Given the description of an element on the screen output the (x, y) to click on. 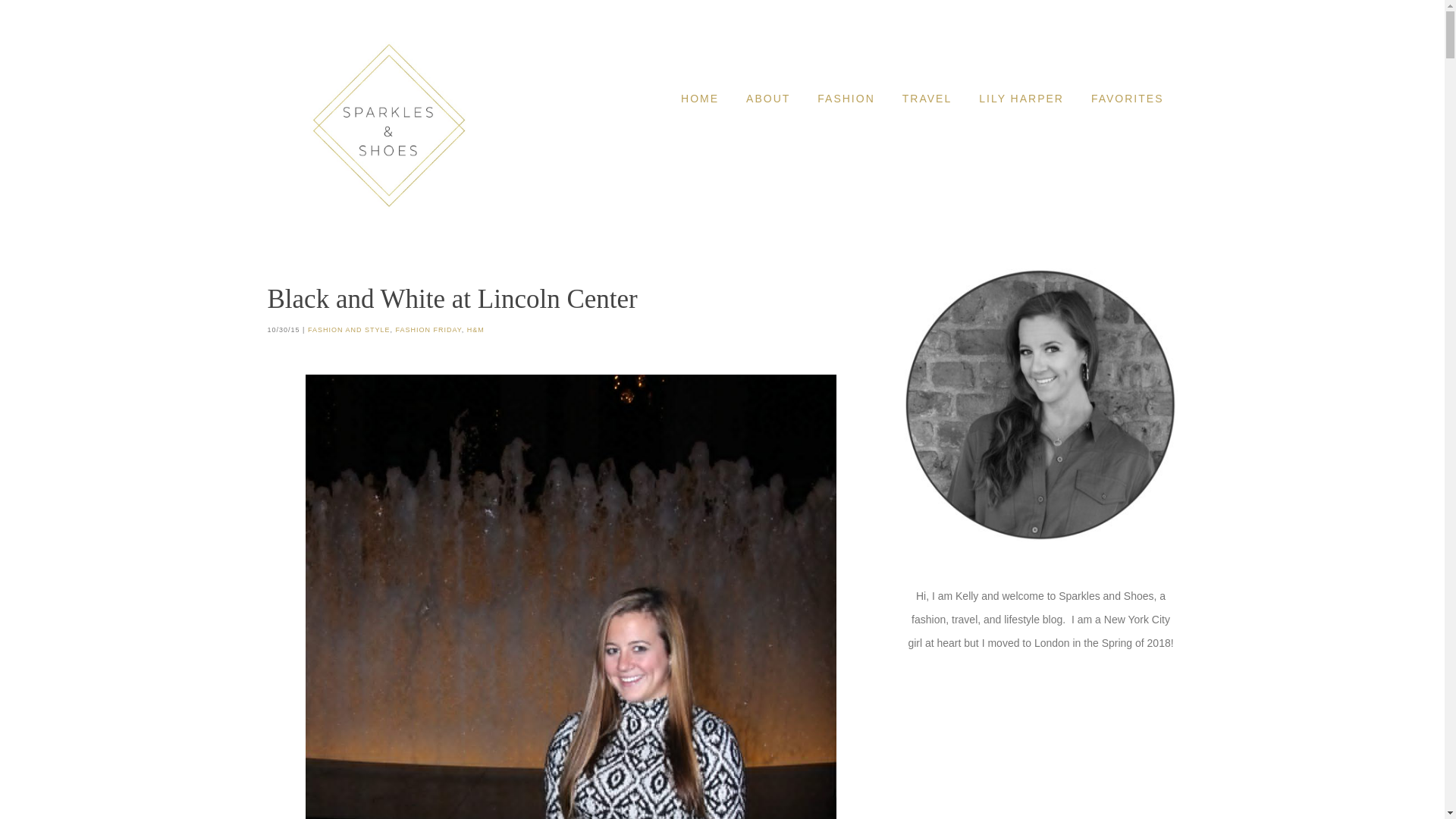
FASHION (845, 99)
HOME (699, 99)
Sparkles and Shoes (387, 124)
ABOUT (767, 99)
TRAVEL (926, 99)
